Given the description of an element on the screen output the (x, y) to click on. 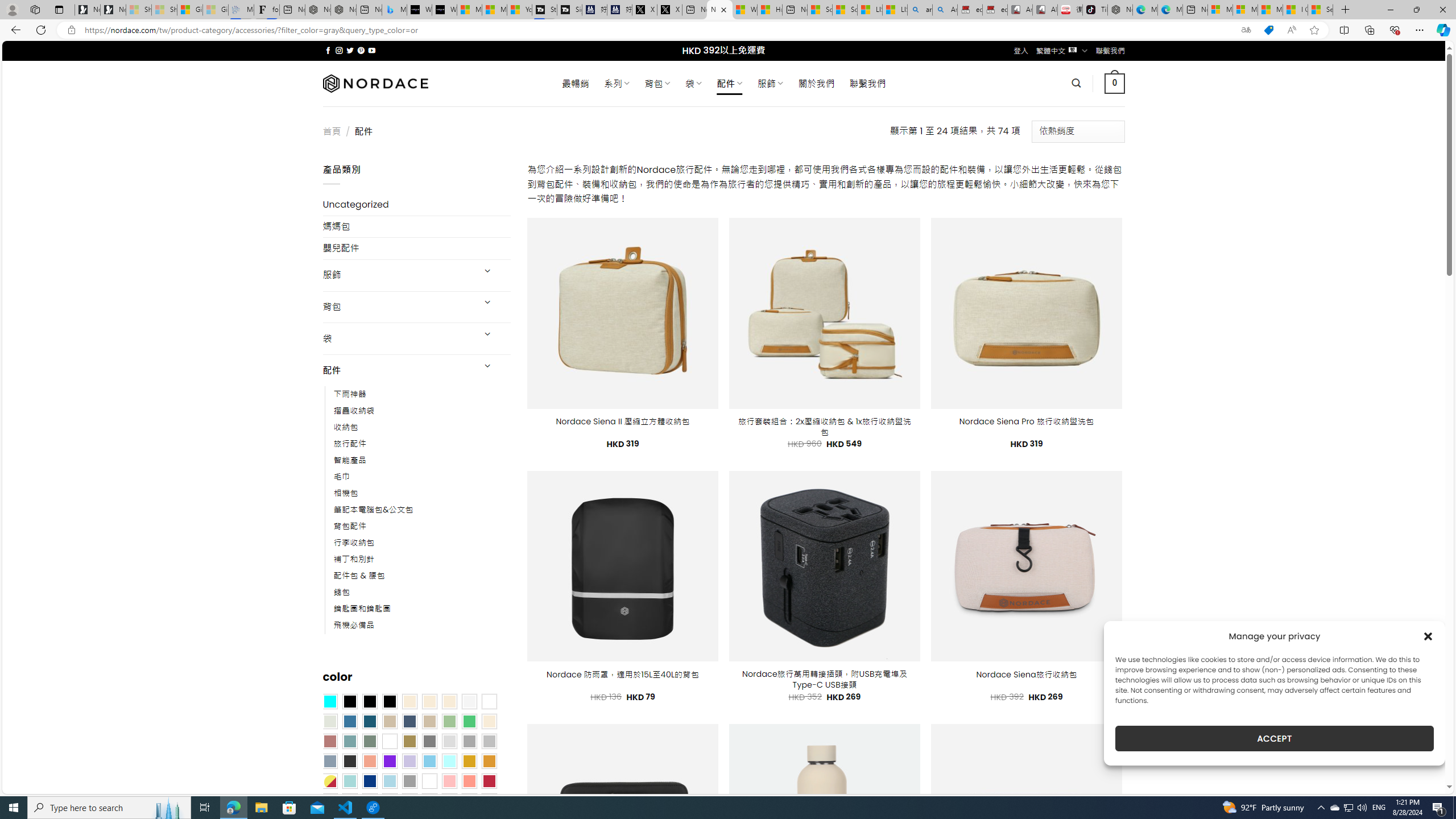
Follow on Instagram (338, 50)
I Gained 20 Pounds of Muscle in 30 Days! | Watch (1295, 9)
